Given the description of an element on the screen output the (x, y) to click on. 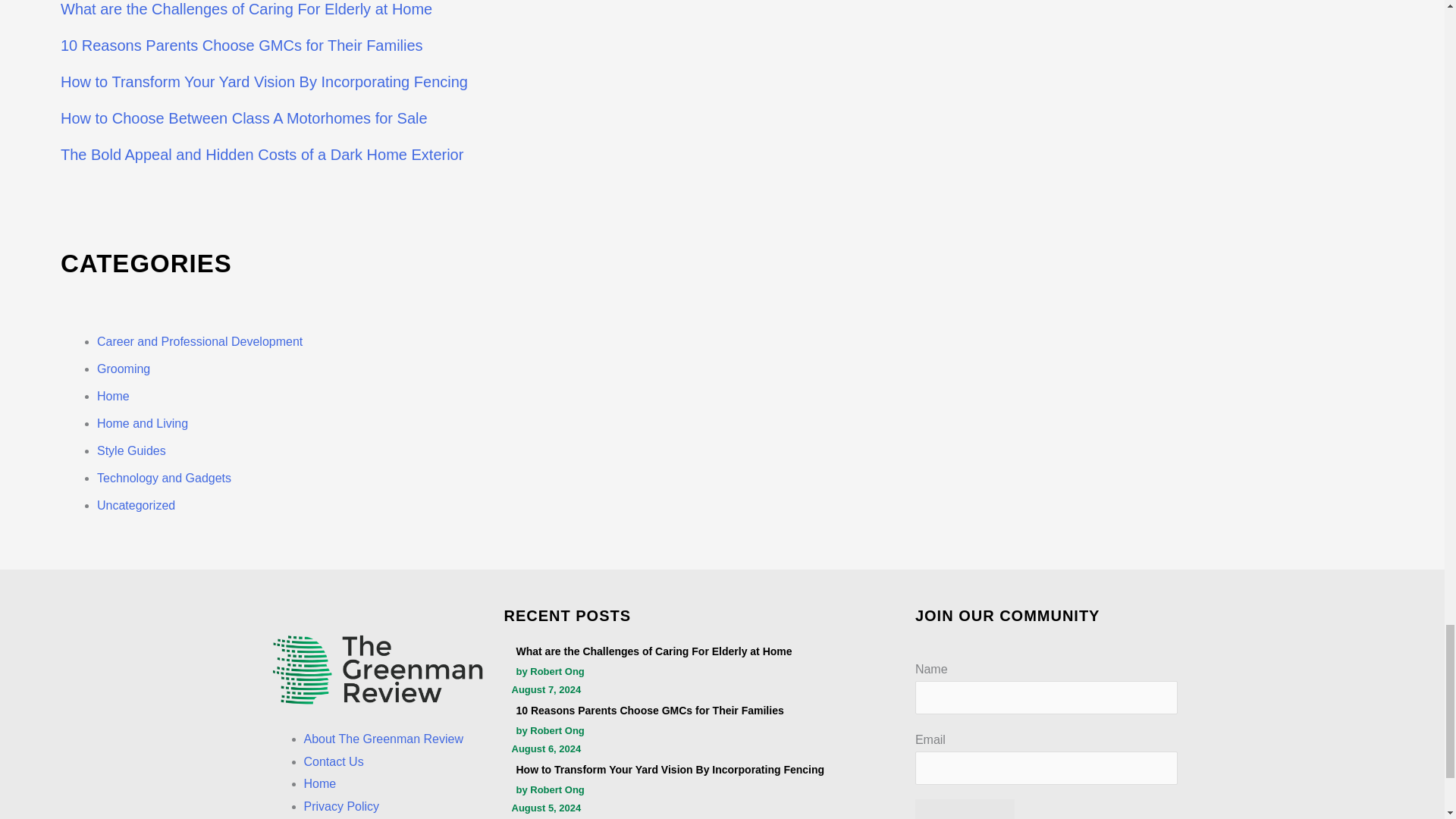
Grooming (123, 368)
Home and Living (142, 422)
How to Choose Between Class A Motorhomes for Sale (244, 117)
Subscribe (964, 809)
10 Reasons Parents Choose GMCs for Their Families (242, 45)
Home (113, 395)
Uncategorized (135, 504)
The Bold Appeal and Hidden Costs of a Dark Home Exterior (262, 154)
Style Guides (131, 450)
How to Transform Your Yard Vision By Incorporating Fencing (264, 81)
